Given the description of an element on the screen output the (x, y) to click on. 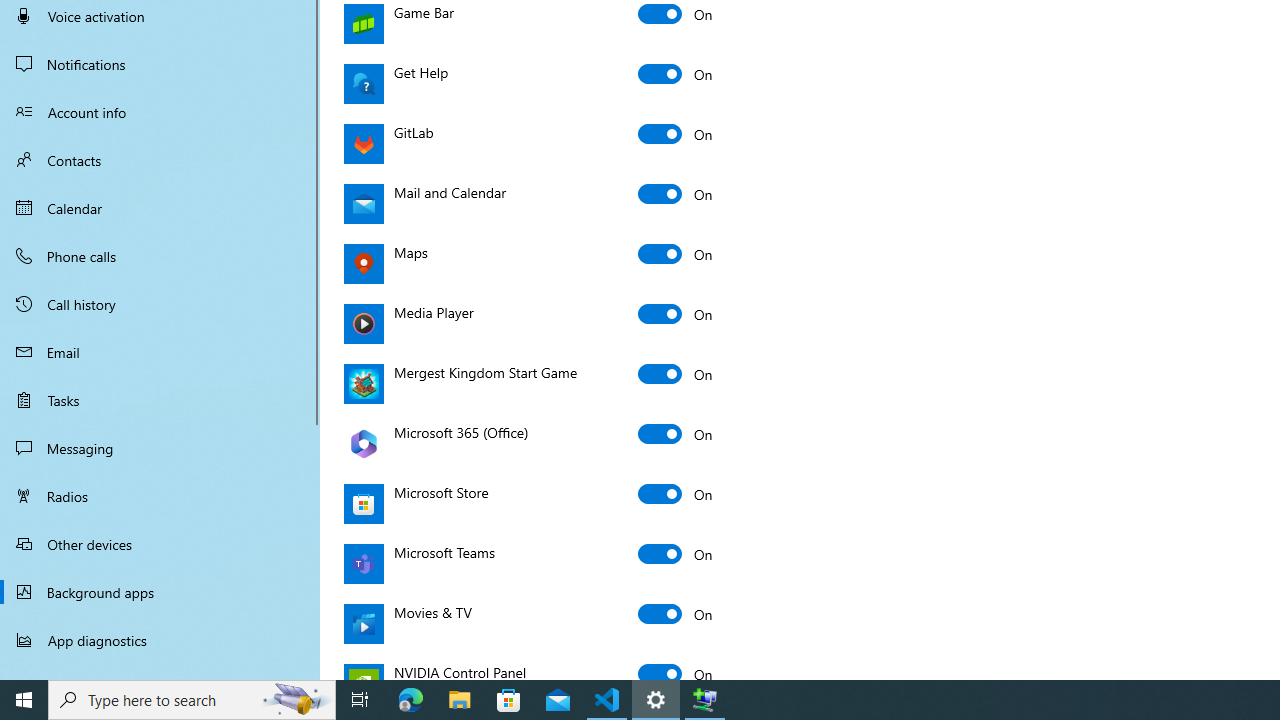
Radios (160, 495)
Notifications (160, 63)
Call history (160, 304)
Settings - 1 running window (656, 699)
Mail and Calendar (675, 193)
